Given the description of an element on the screen output the (x, y) to click on. 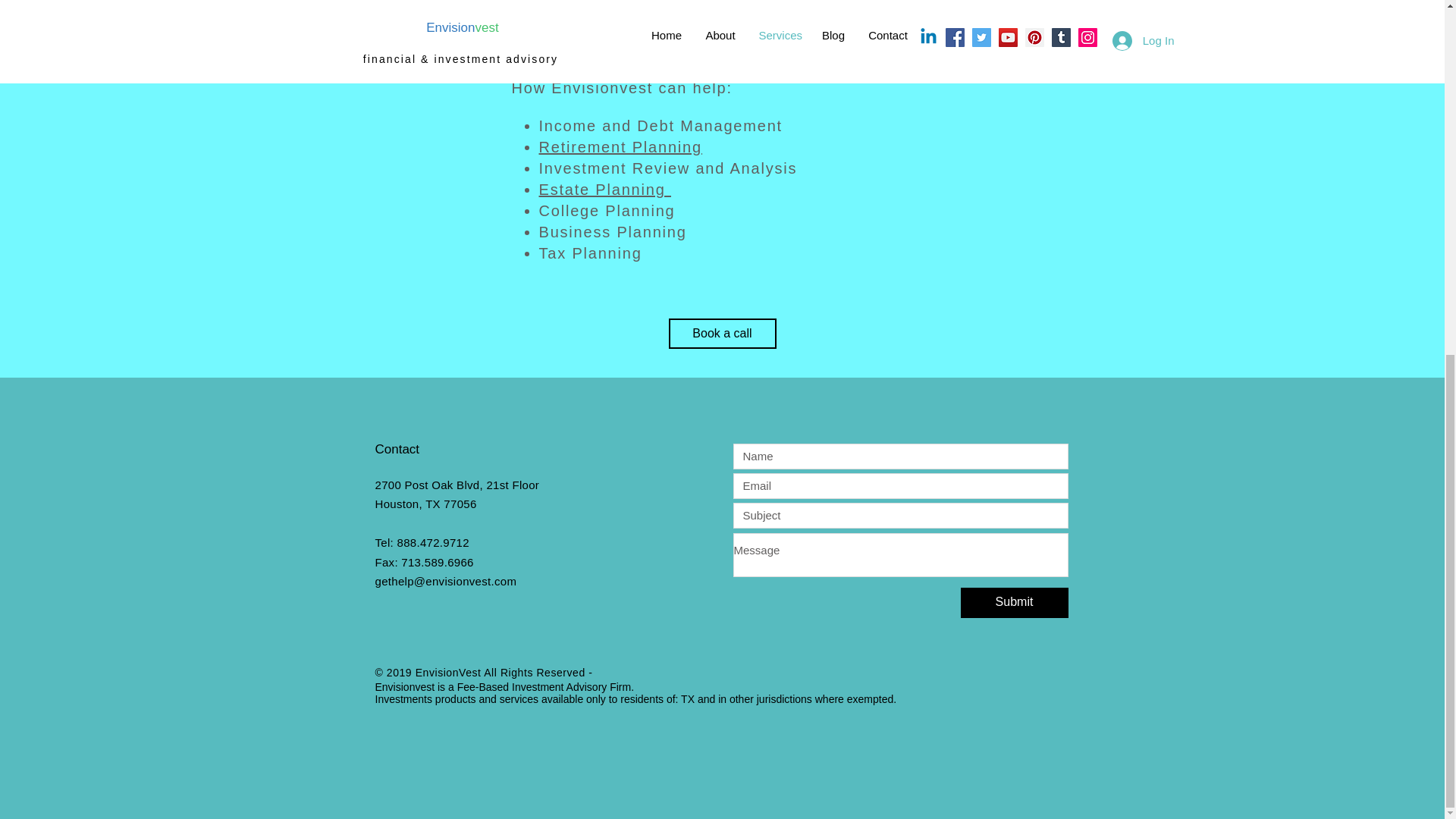
Book a call (722, 333)
Submit (1013, 603)
Estate Planning  (603, 189)
Retirement Planning (619, 146)
